Given the description of an element on the screen output the (x, y) to click on. 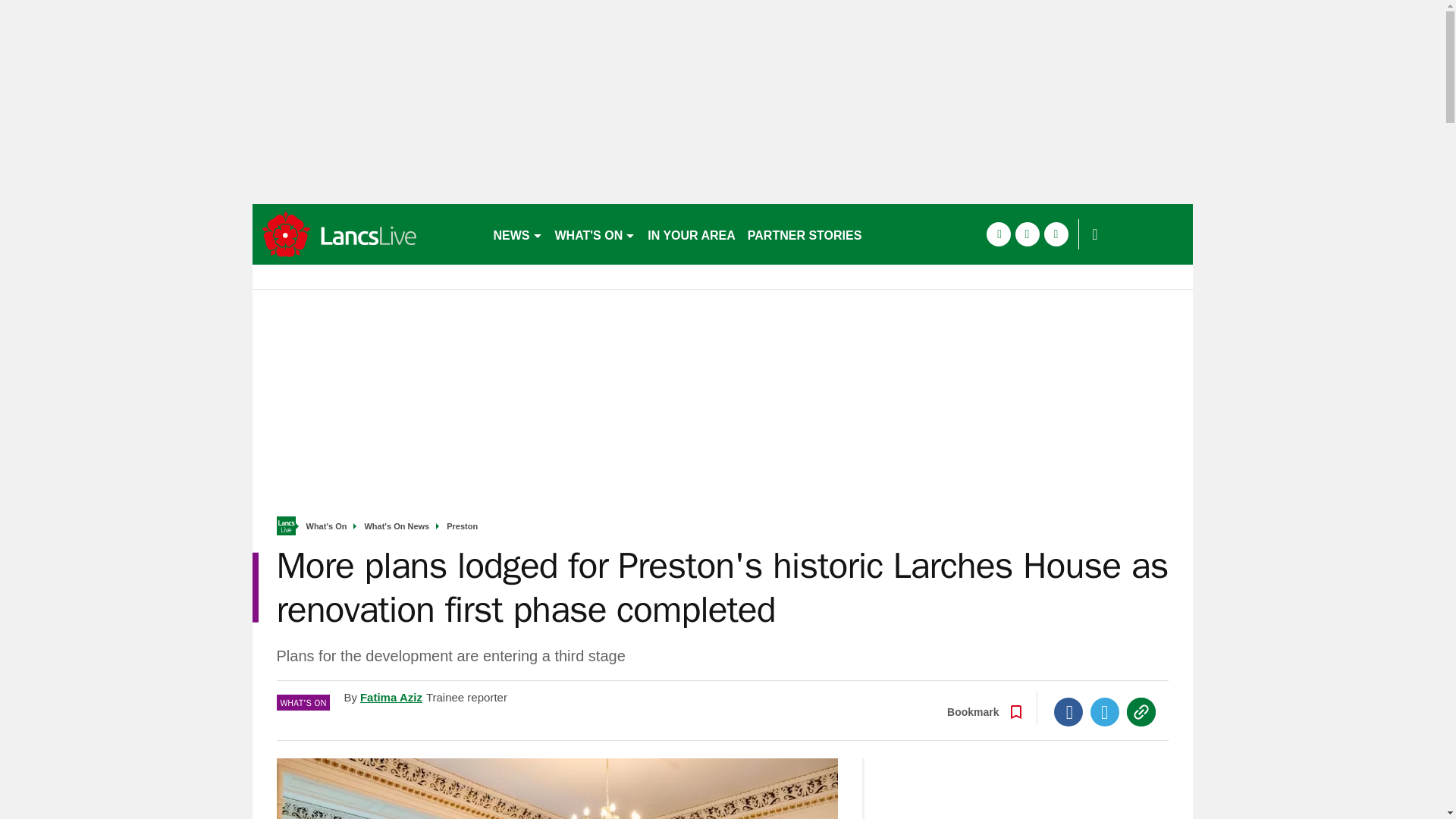
WHAT'S ON (595, 233)
IN YOUR AREA (691, 233)
instagram (1055, 233)
PARTNER STORIES (804, 233)
accrington (365, 233)
facebook (997, 233)
Facebook (1068, 711)
Twitter (1104, 711)
twitter (1026, 233)
NEWS (517, 233)
